Given the description of an element on the screen output the (x, y) to click on. 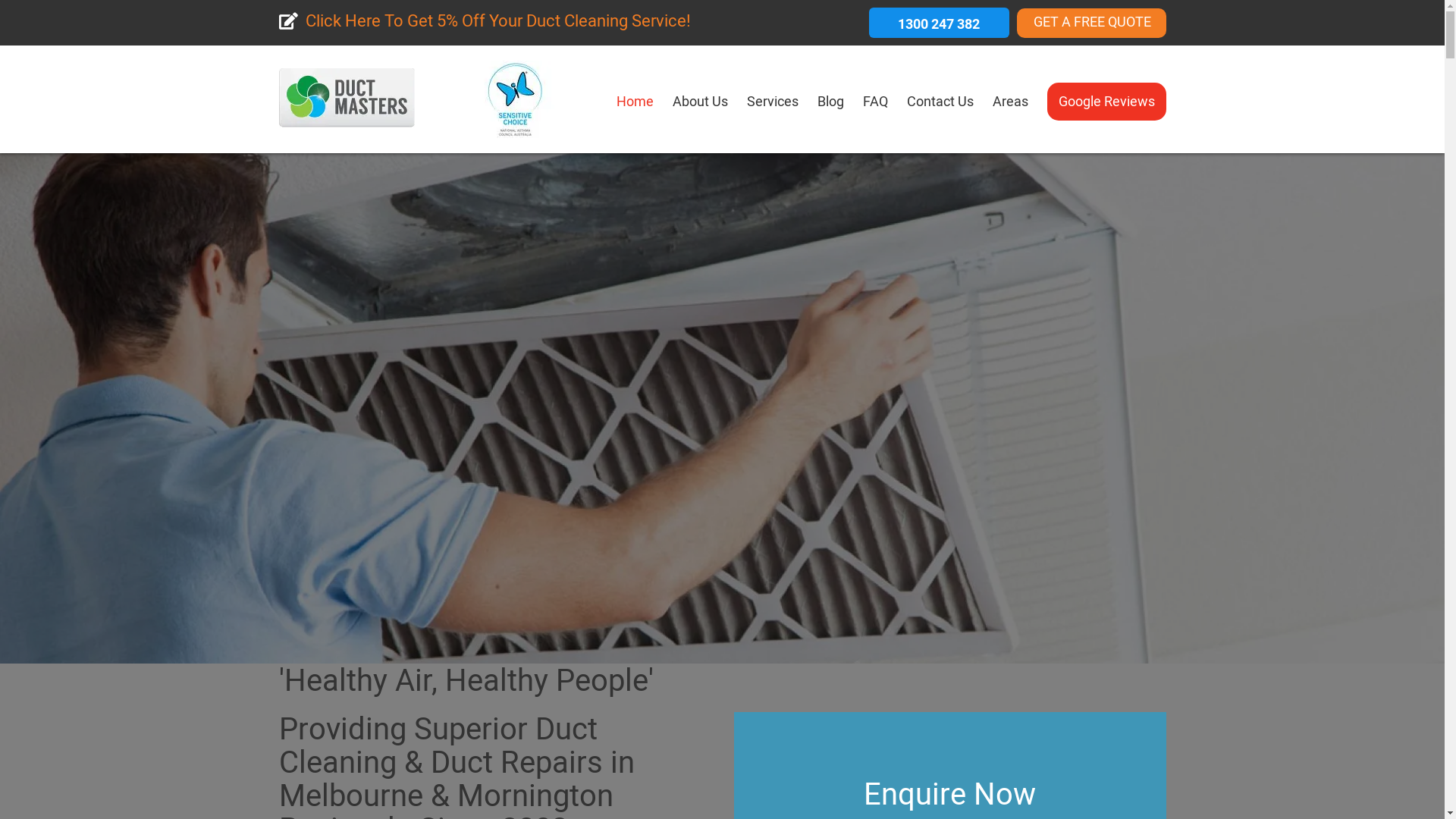
Blog Element type: text (830, 106)
About Us Element type: text (699, 106)
Click Here To Get 5% Off Your Duct Cleaning Service! Element type: text (484, 22)
hbanner_new-1920x706 Element type: hover (722, 397)
Services Element type: text (771, 106)
Home Element type: text (633, 106)
GET A FREE QUOTE Element type: text (1090, 22)
FAQ Element type: text (875, 106)
1300 247 382 Element type: text (939, 22)
Contact Us Element type: text (939, 106)
Areas Element type: text (1009, 106)
Google Reviews Element type: text (1105, 100)
Duct Masters Element type: hover (346, 115)
